Given the description of an element on the screen output the (x, y) to click on. 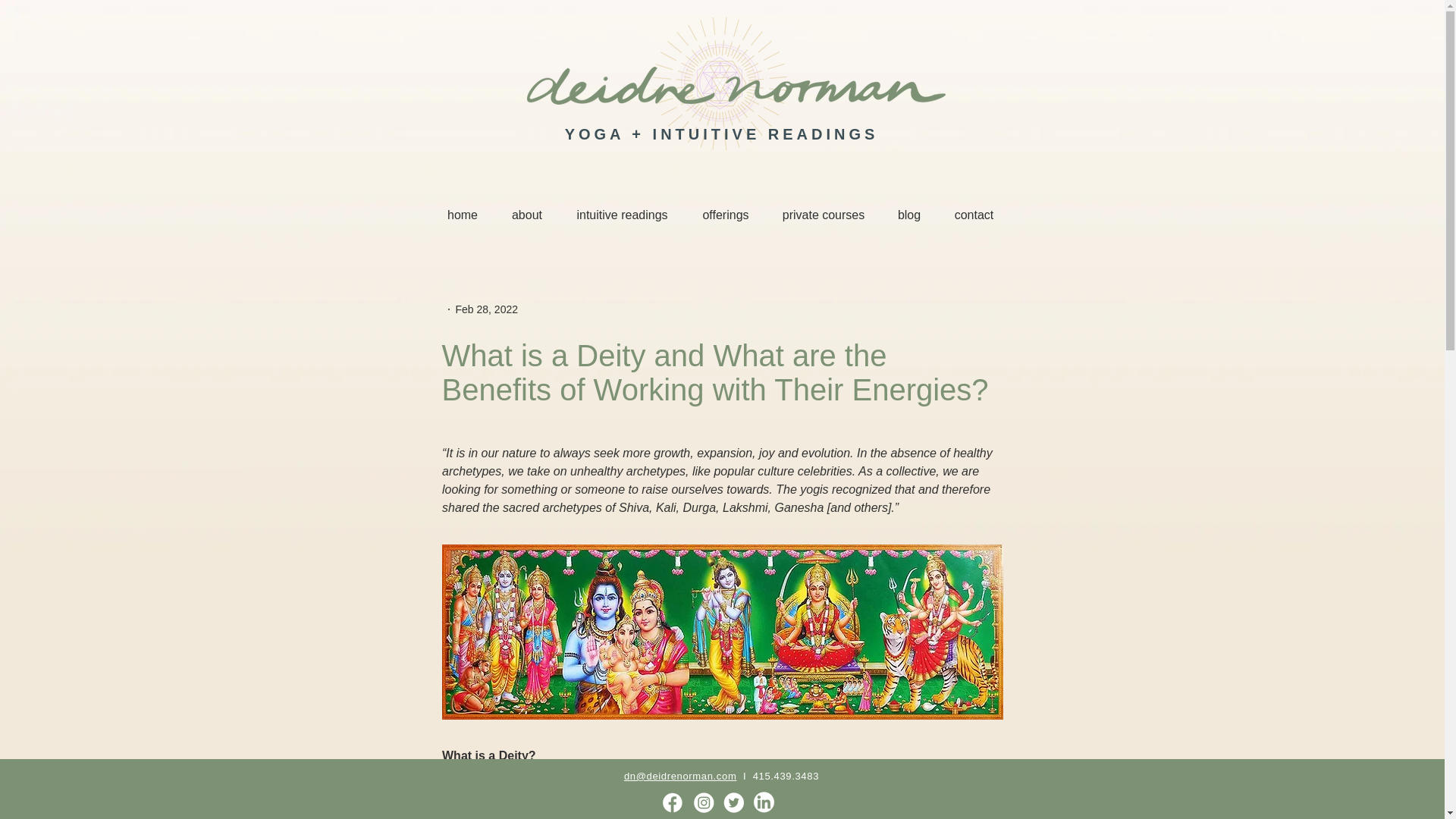
intuitive readings (622, 214)
Feb 28, 2022 (486, 309)
contact (973, 214)
blog (908, 214)
home (462, 214)
offerings (726, 214)
private courses (822, 214)
about (527, 214)
